Given the description of an element on the screen output the (x, y) to click on. 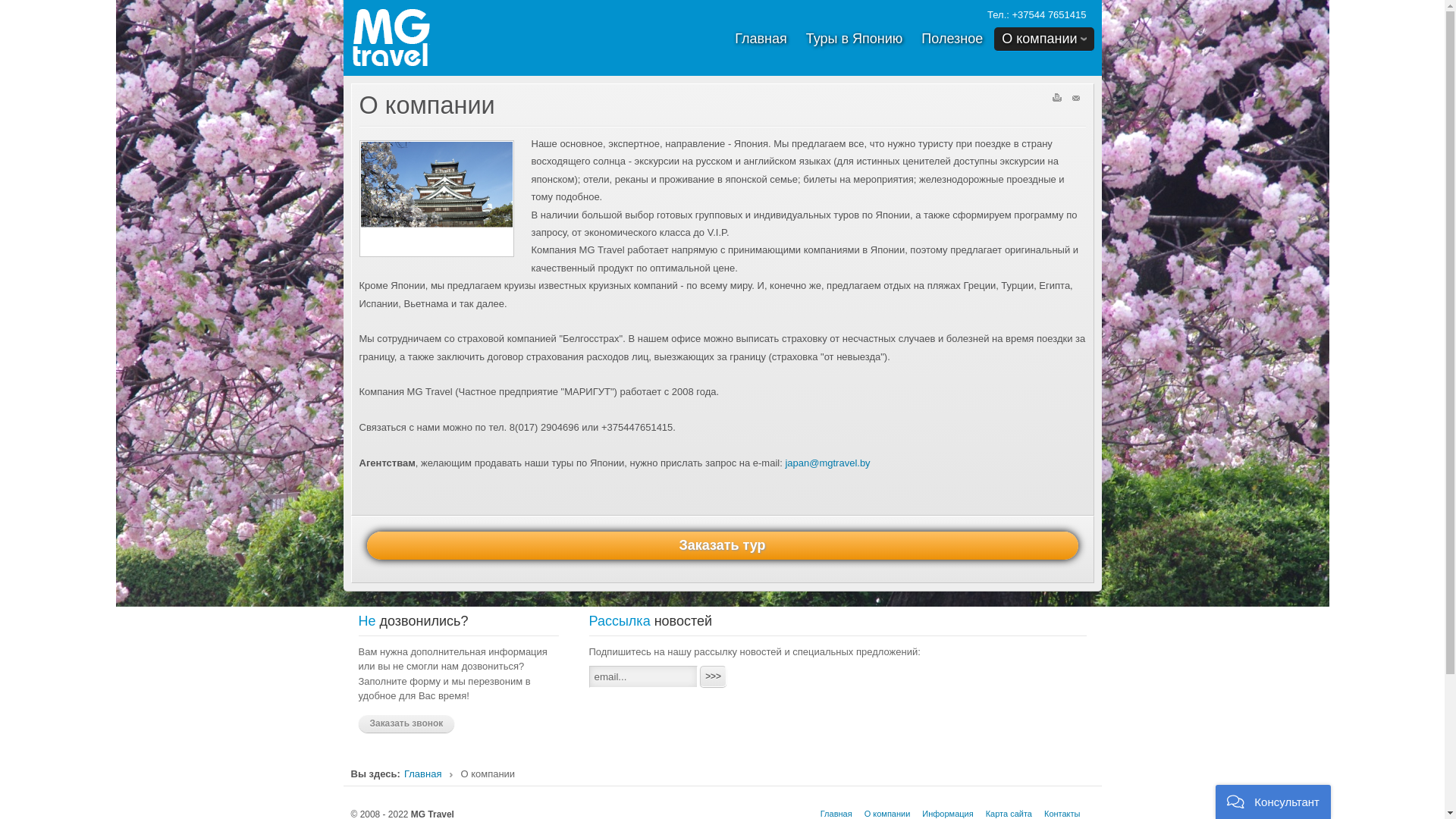
MG Travel Element type: hover (448, 37)
E-mail Element type: hover (1077, 100)
japan@mgtravel.by Element type: text (826, 462)
>>> Element type: text (712, 676)
